Given the description of an element on the screen output the (x, y) to click on. 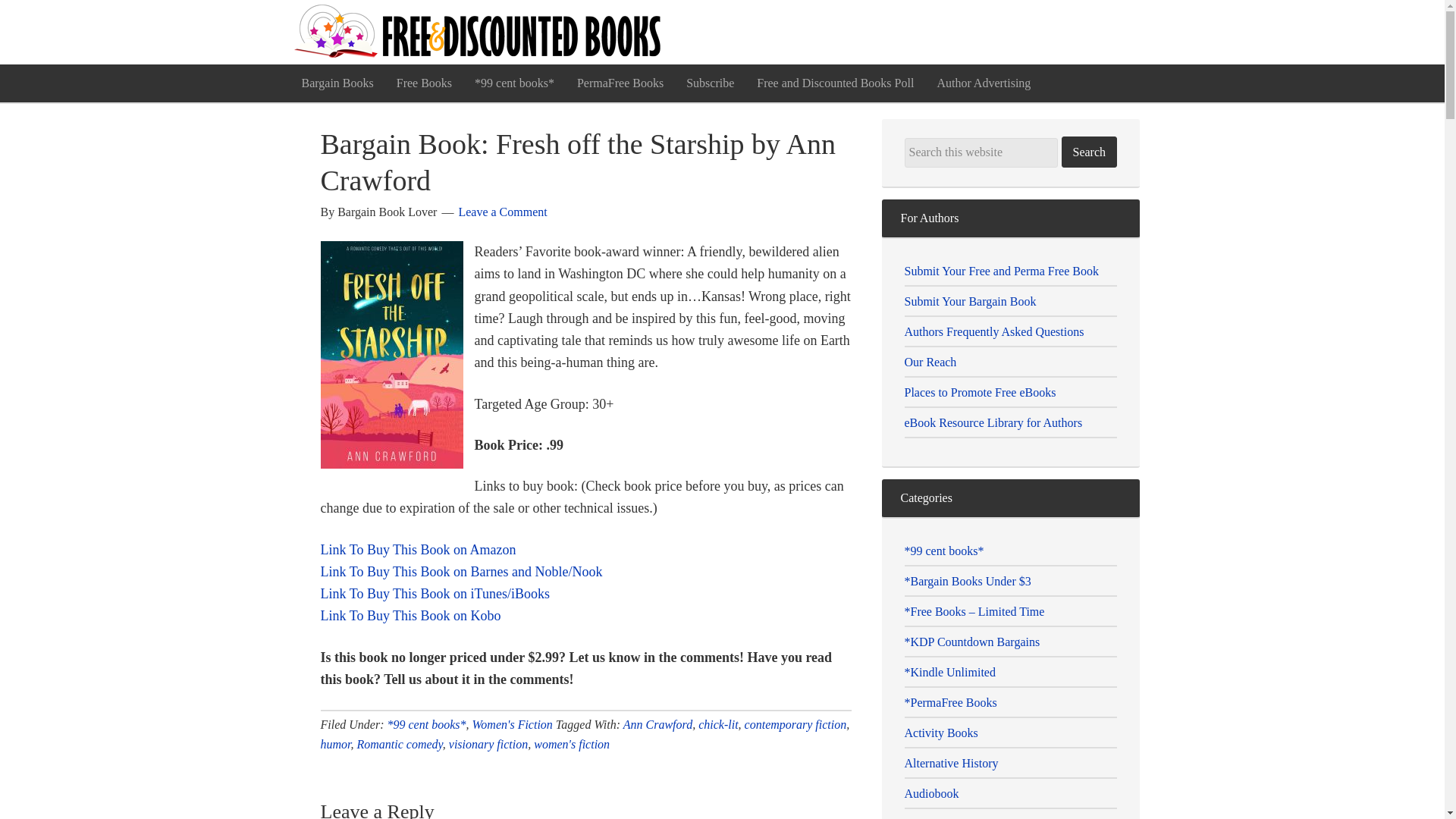
Bargain Books (336, 83)
Our Reach (930, 361)
humor (335, 744)
Submit Your Bargain Book (969, 300)
Authors Frequently Asked Questions (993, 331)
women's fiction (572, 744)
Places to Promote Free eBooks (979, 391)
contemporary fiction (795, 724)
Link To Buy This Book on Amazon (417, 548)
Women's Fiction (511, 724)
